Given the description of an element on the screen output the (x, y) to click on. 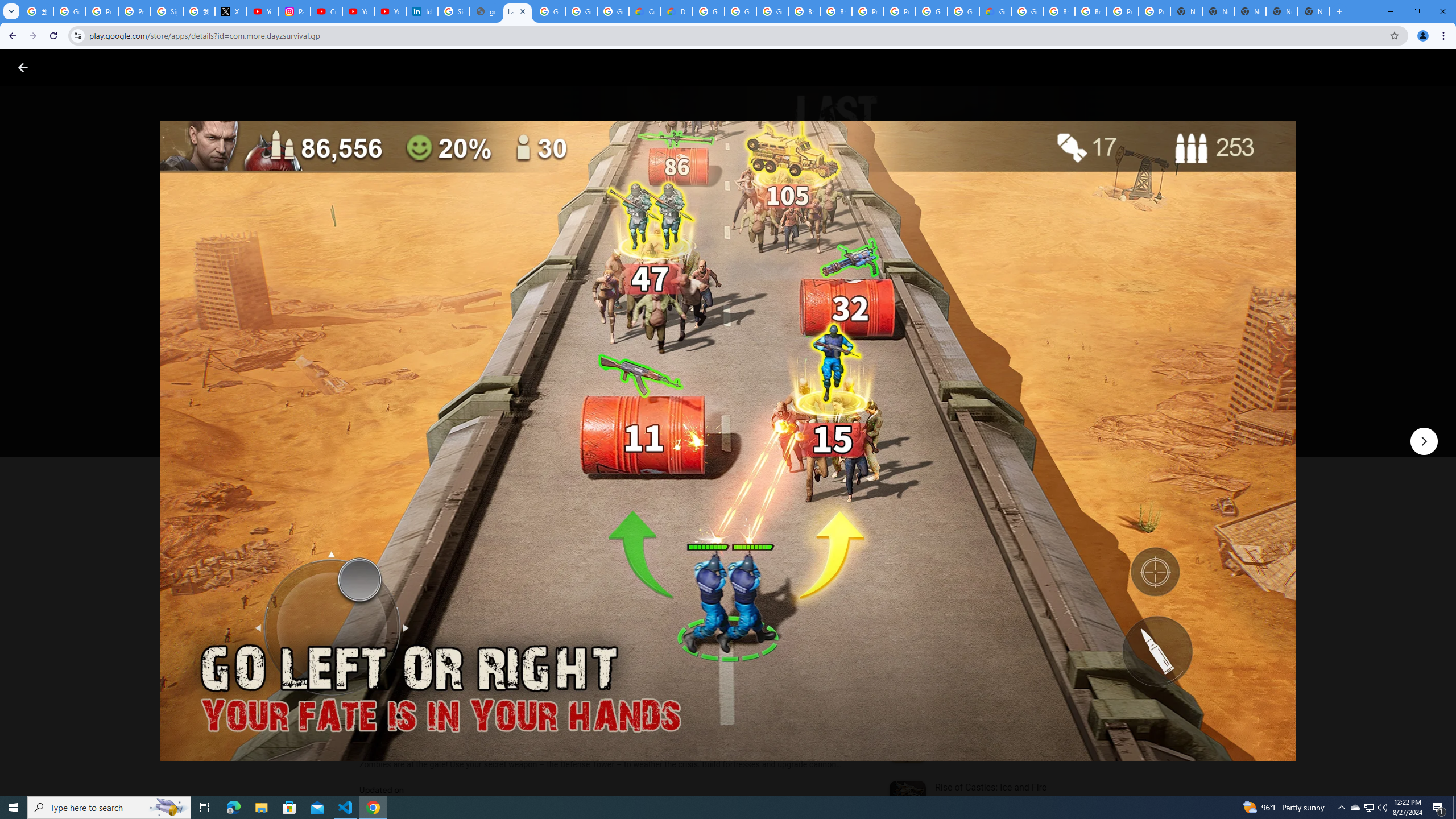
Browse Chrome as a guest - Computer - Google Chrome Help (1059, 11)
Install (416, 423)
See more information on About this game (472, 681)
Google Cloud Platform (963, 11)
Share (506, 422)
Games (141, 67)
Last Shelter: Survival - Apps on Google Play (517, 11)
Long Tech Network Limited (417, 342)
Customer Care | Google Cloud (644, 11)
